Given the description of an element on the screen output the (x, y) to click on. 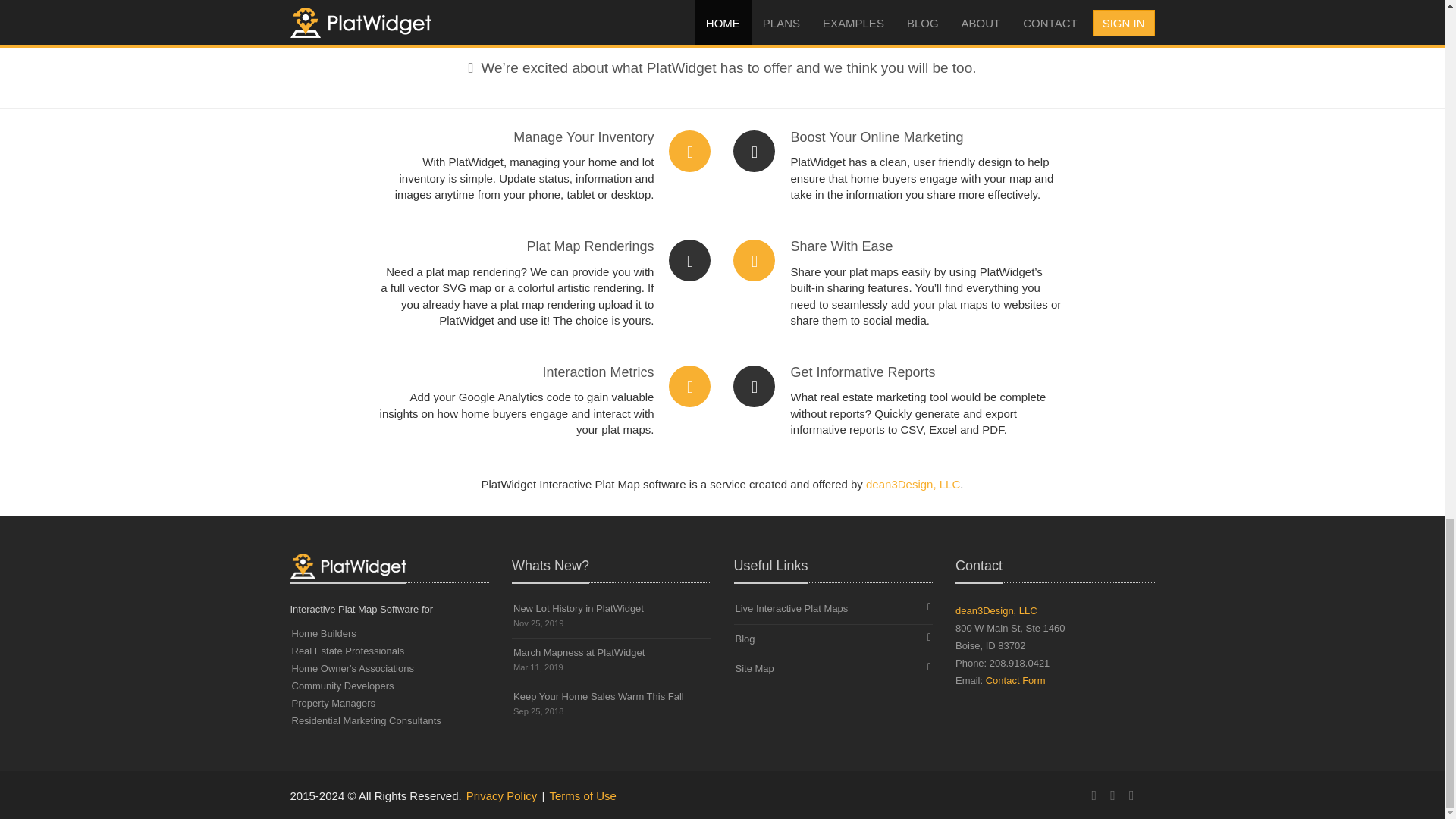
Site Map (833, 668)
Contact Us (1015, 680)
Live Interactive Plat Maps (611, 703)
Terms of Use (833, 609)
Privacy Policy (581, 795)
Follow us on Pinterest (501, 795)
Terms of Use (1112, 795)
dean3Design, LLC (581, 795)
Privacy Policy (912, 483)
Follow us on Twitter (501, 795)
dean3Design, LLC (1131, 795)
Contact Form (995, 610)
Blog (611, 659)
